Given the description of an element on the screen output the (x, y) to click on. 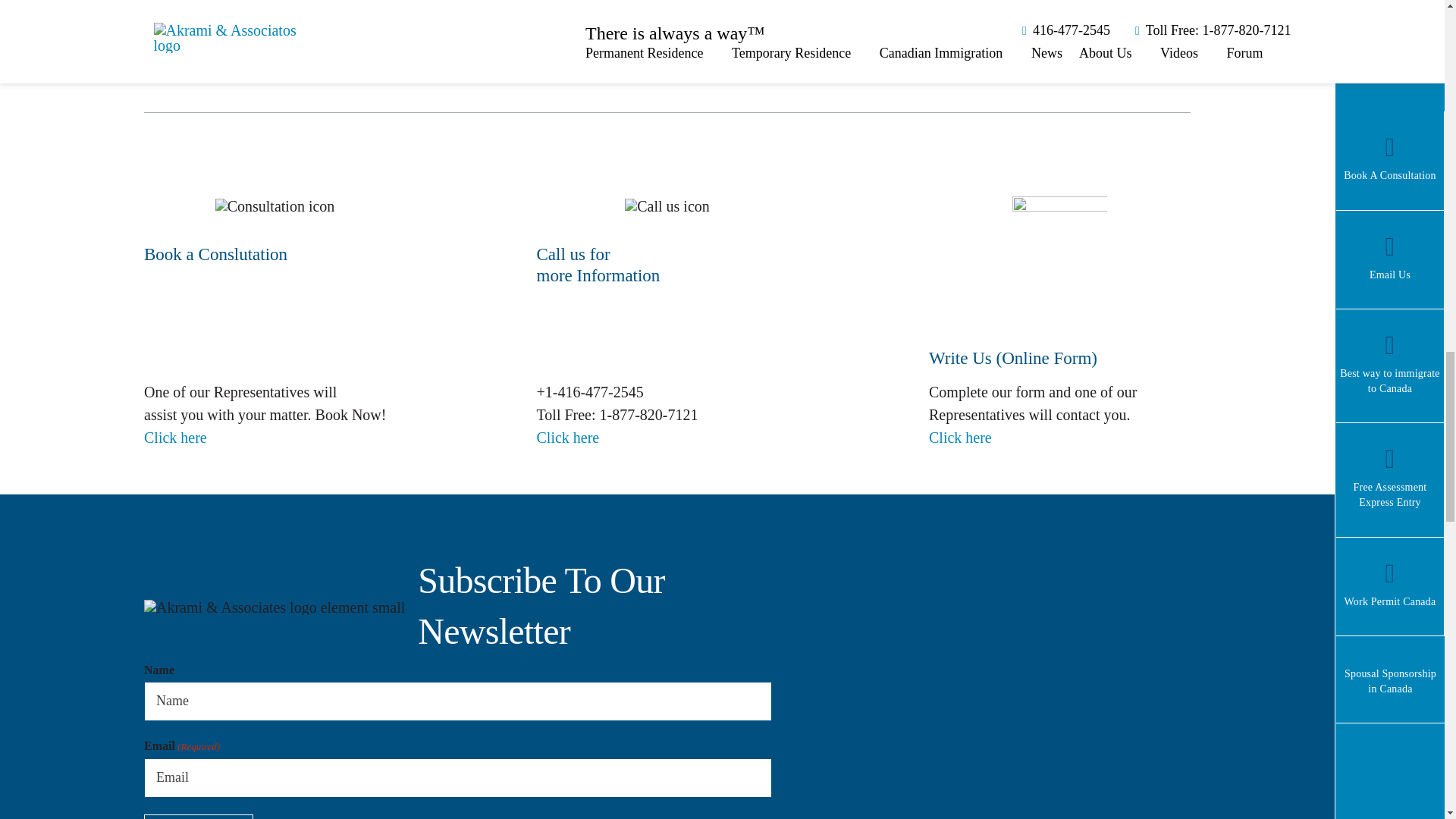
Call-us (667, 206)
consultation (274, 206)
Subscribe (198, 816)
logo-element-small (274, 607)
